Given the description of an element on the screen output the (x, y) to click on. 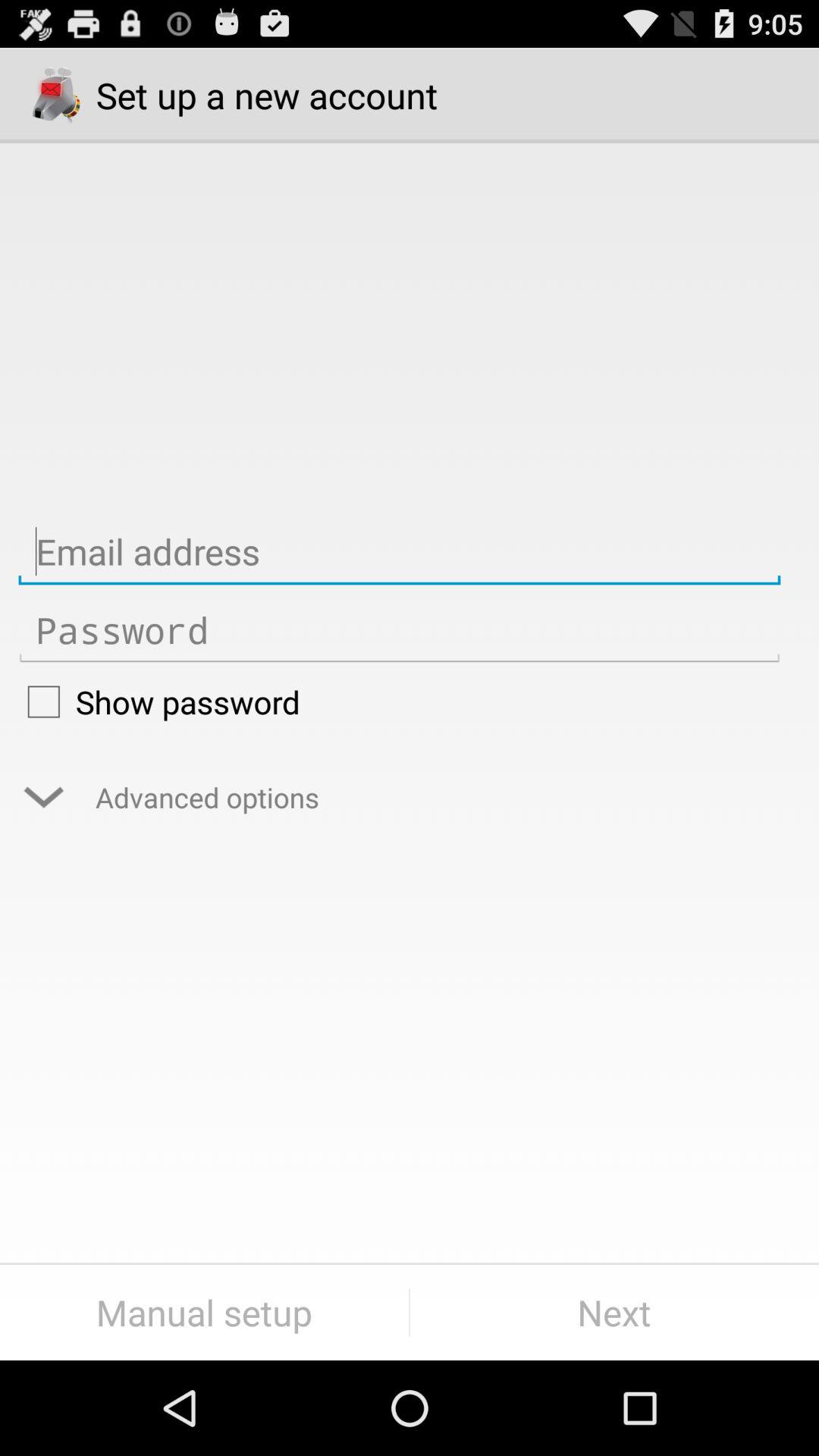
insert password (399, 630)
